Given the description of an element on the screen output the (x, y) to click on. 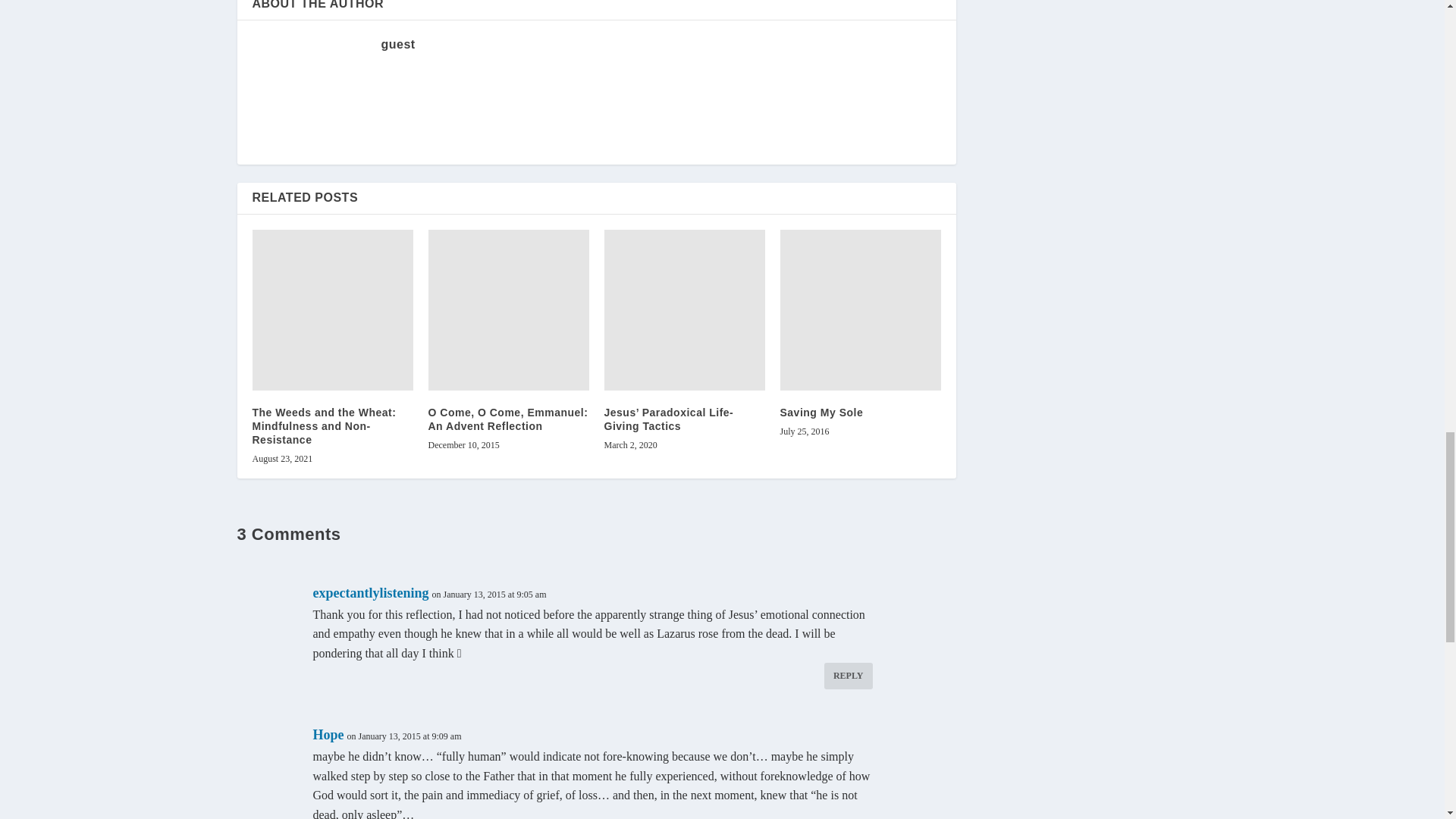
O Come, O Come, Emmanuel: An Advent Reflection (508, 310)
View all posts by guest (397, 43)
The Weeds and the Wheat: Mindfulness and Non-Resistance (331, 310)
